Given the description of an element on the screen output the (x, y) to click on. 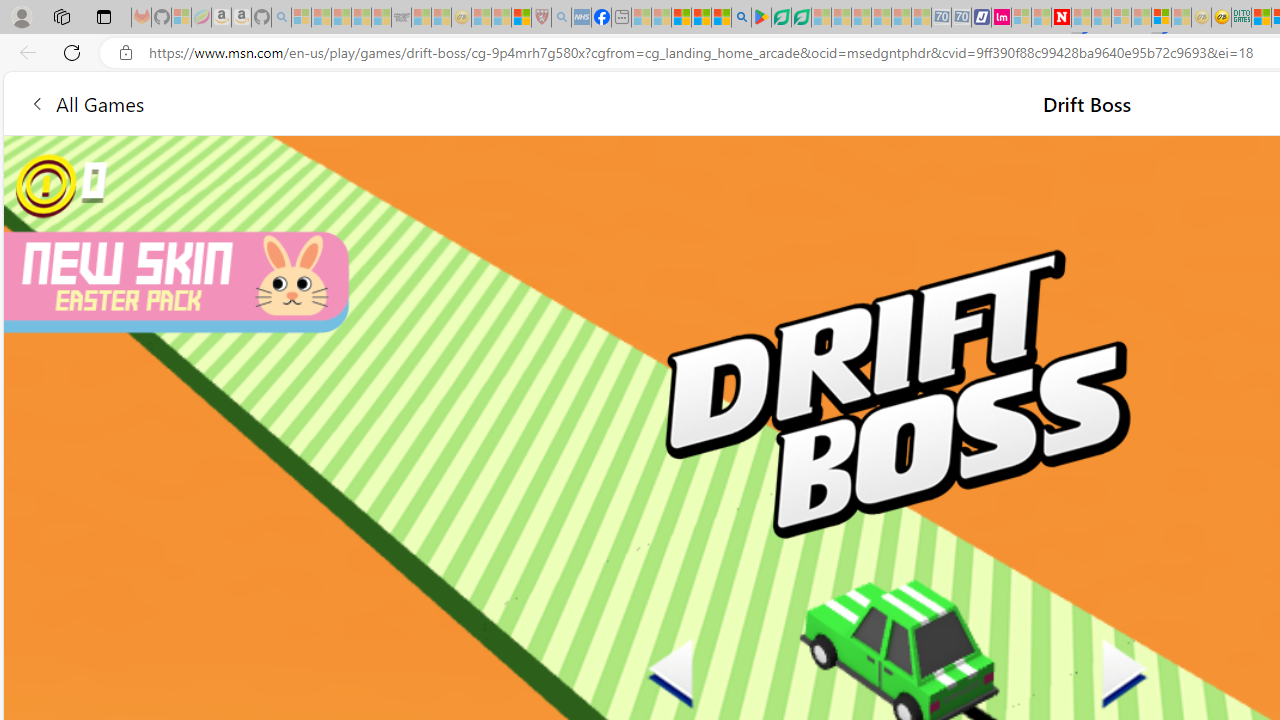
Microsoft Start - Sleeping (1040, 17)
All Games (86, 102)
Latest Politics News & Archive | Newsweek.com (1061, 17)
Cheap Hotels - Save70.com - Sleeping (961, 17)
Workspaces (61, 16)
